Given the description of an element on the screen output the (x, y) to click on. 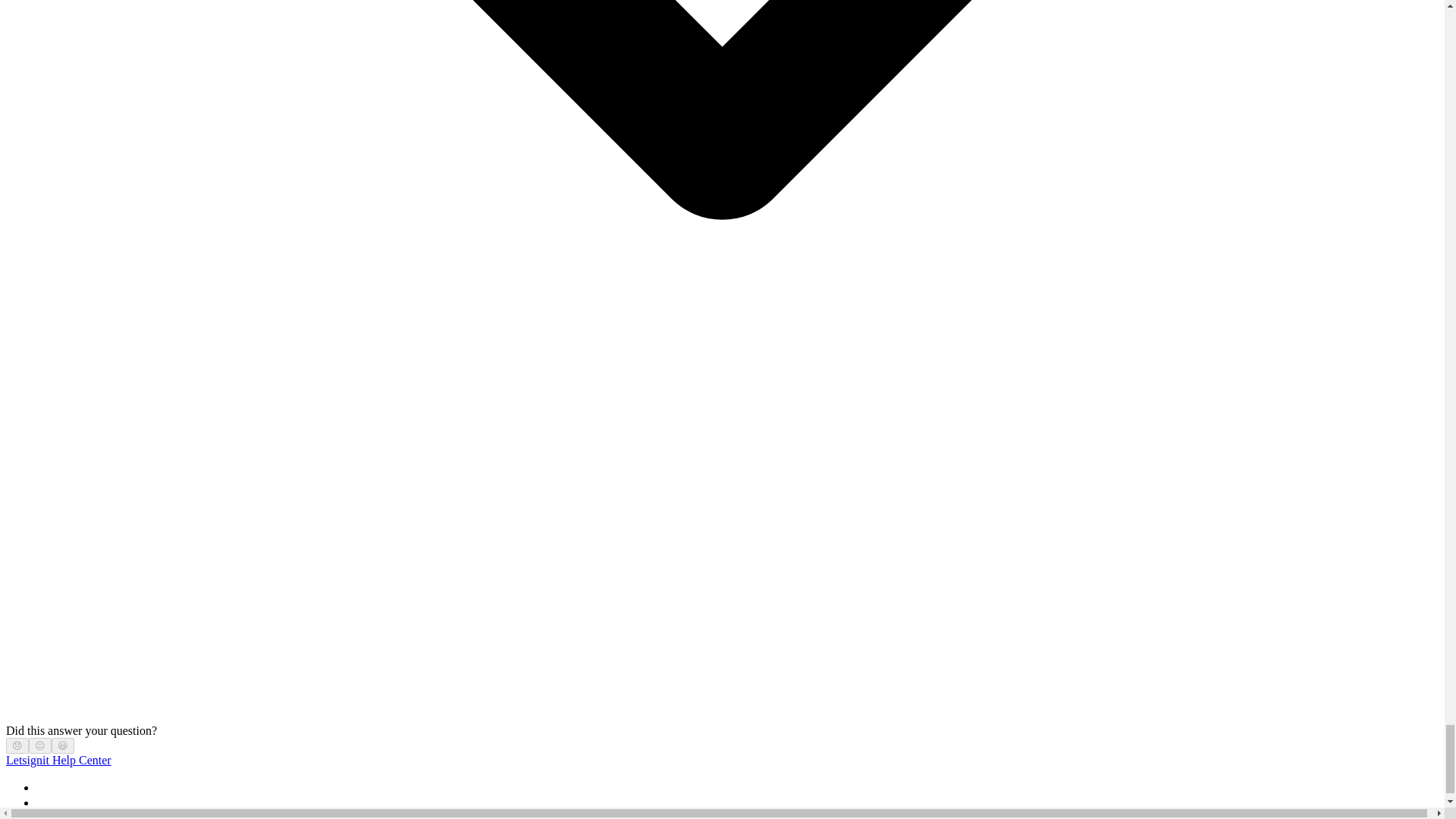
Smiley (63, 745)
Neutral (39, 745)
Disappointed (17, 745)
Letsignit Help Center (58, 759)
